Given the description of an element on the screen output the (x, y) to click on. 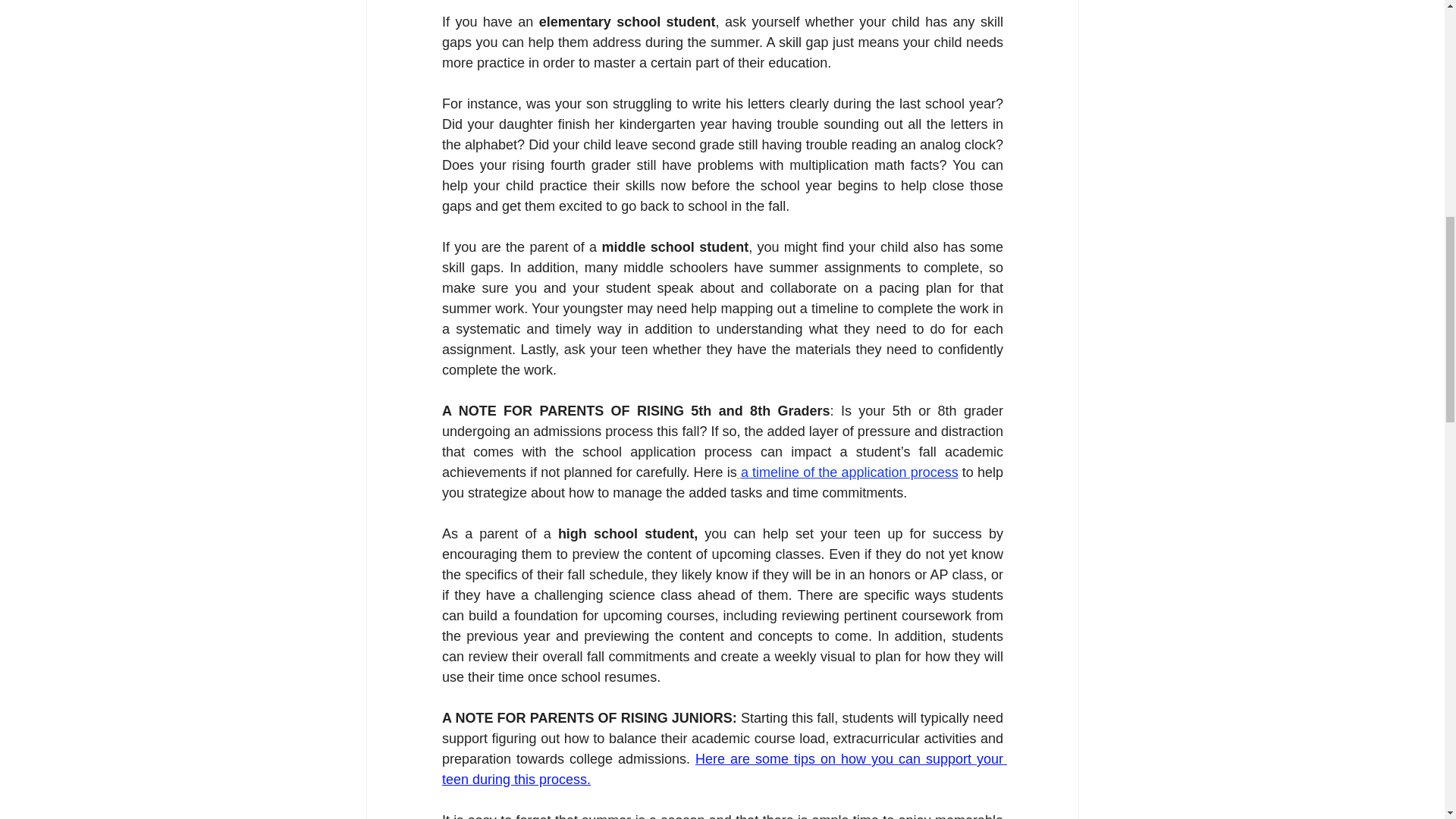
a timeline of the application process (848, 472)
